Given the description of an element on the screen output the (x, y) to click on. 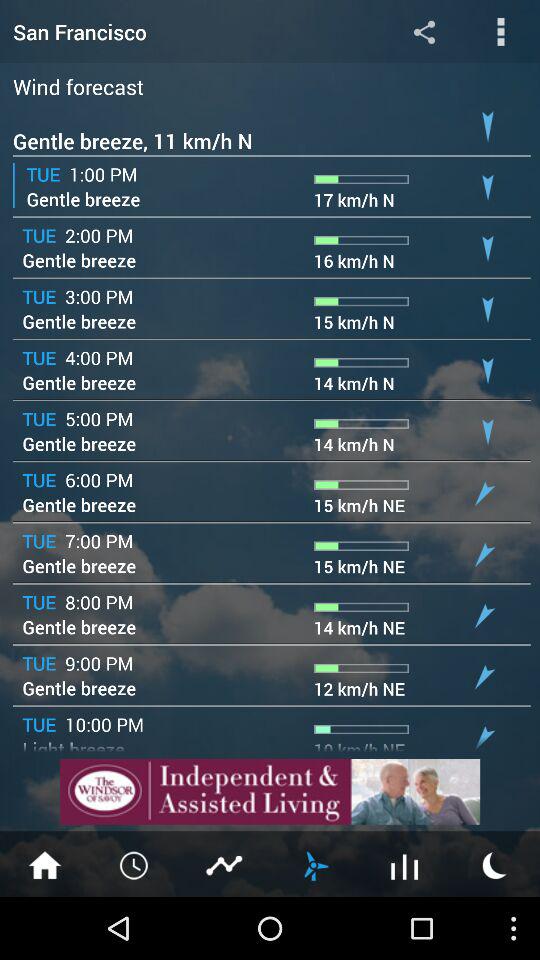
view statistics (225, 864)
